Given the description of an element on the screen output the (x, y) to click on. 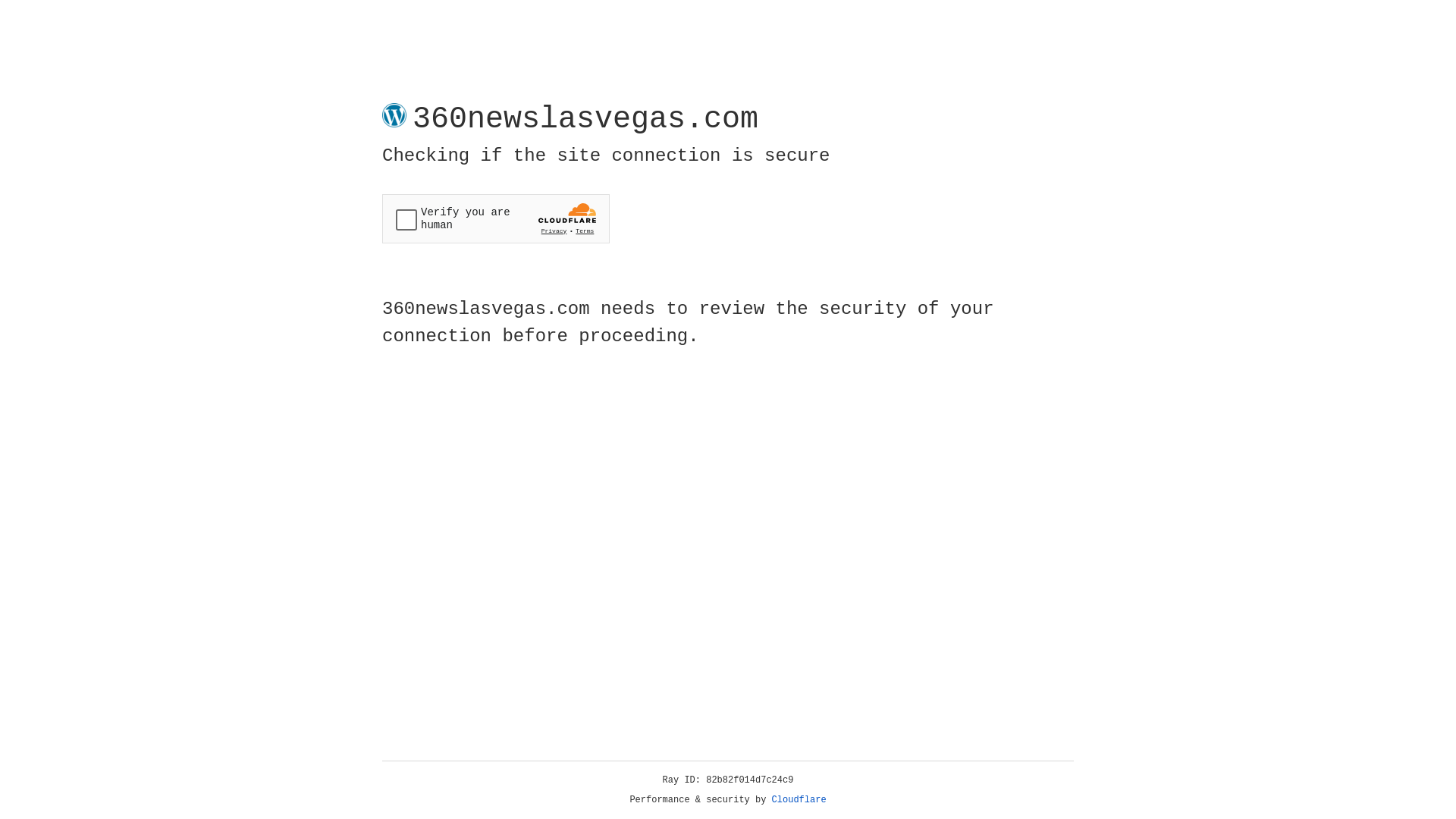
Cloudflare Element type: text (798, 799)
Widget containing a Cloudflare security challenge Element type: hover (495, 218)
